Given the description of an element on the screen output the (x, y) to click on. 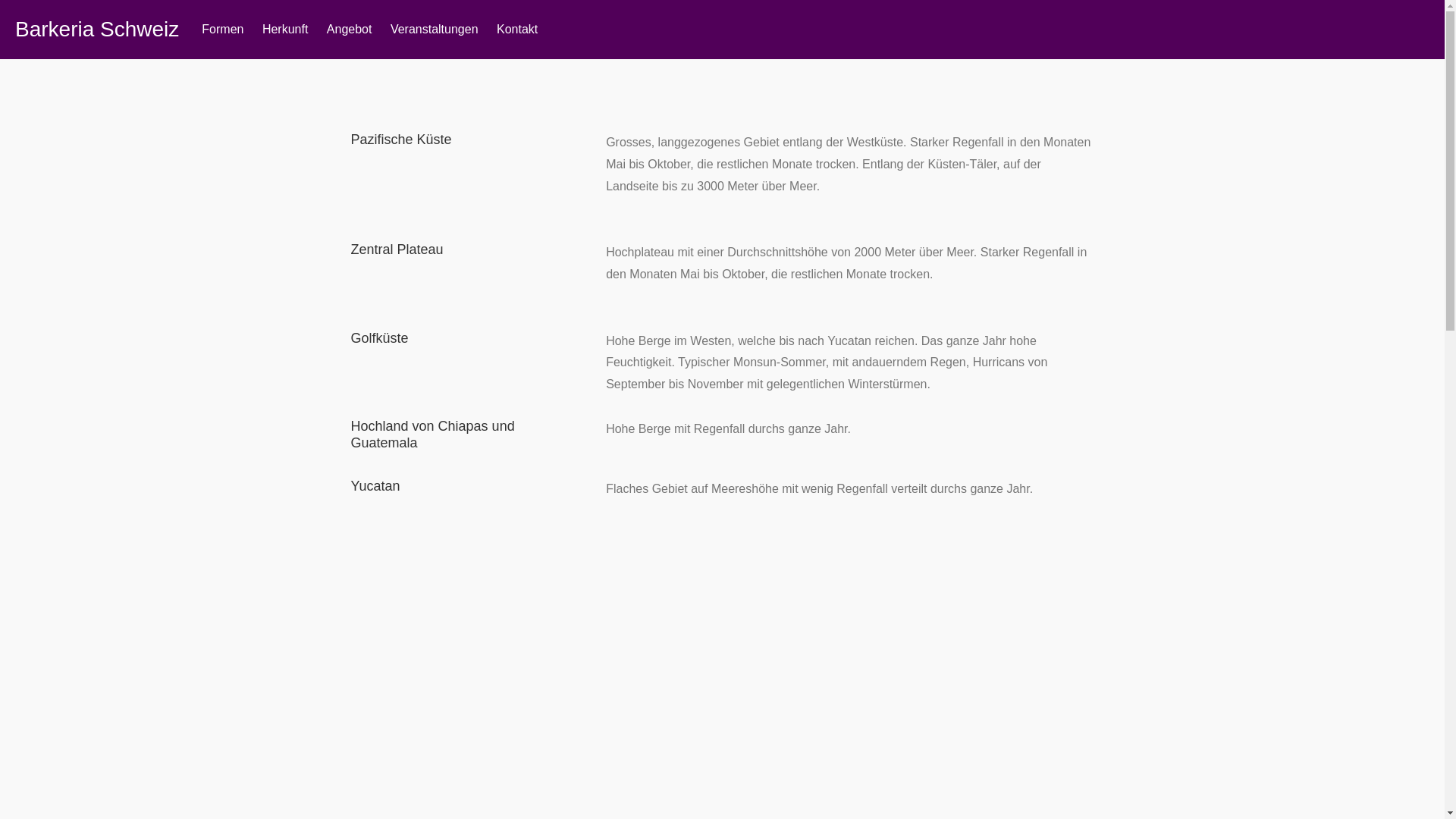
Veranstaltungen Element type: text (434, 29)
Kontakt Element type: text (517, 29)
Barkeria Schweiz Element type: text (96, 29)
Angebot Element type: text (349, 29)
Herkunft Element type: text (284, 29)
Formen Element type: text (222, 29)
